Given the description of an element on the screen output the (x, y) to click on. 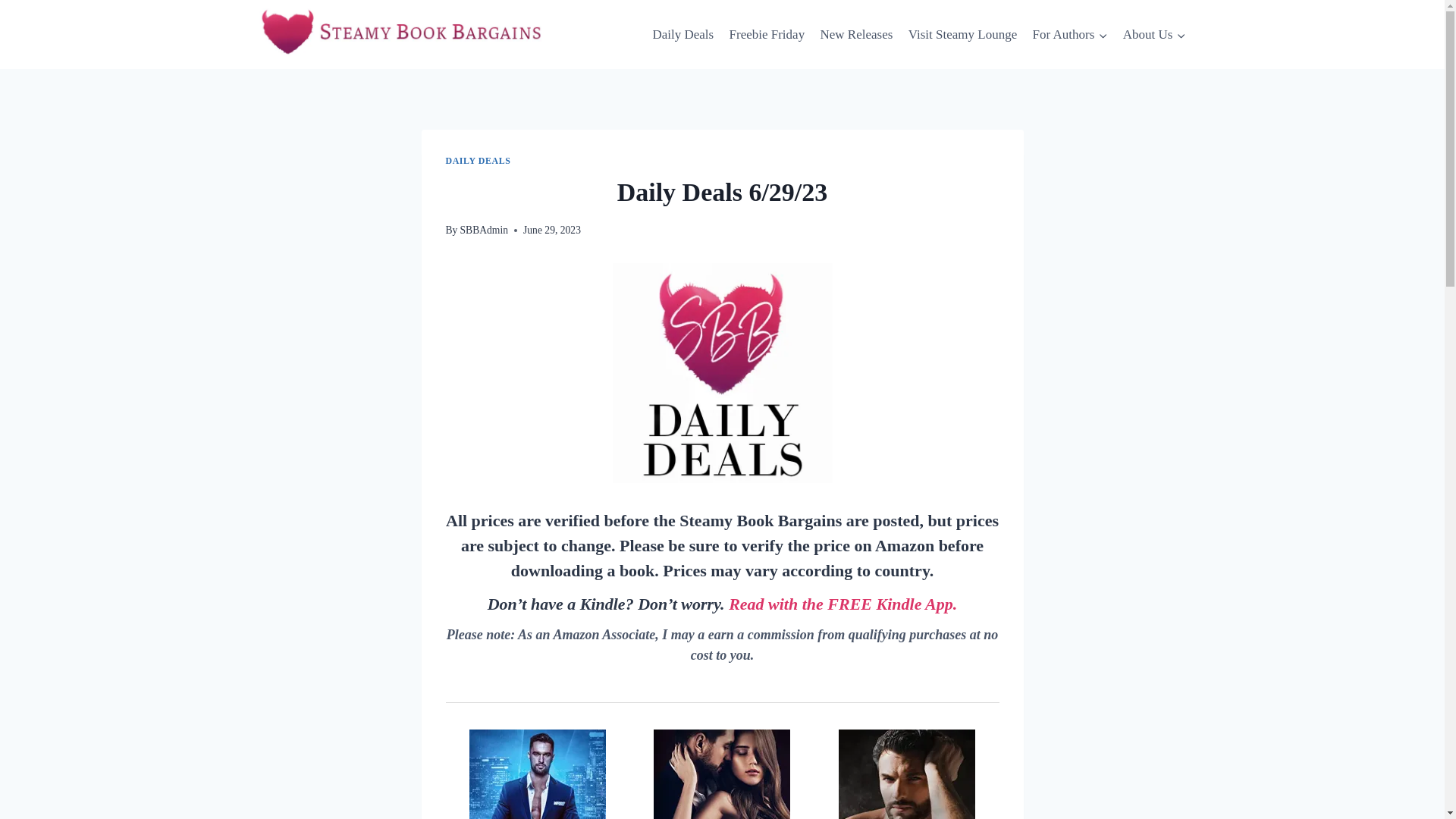
Daily Deals (682, 34)
99 Pennies! (537, 774)
New Releases (855, 34)
DAILY DEALS (478, 160)
About Us (1153, 34)
Read with the FREE Kindle App. (842, 603)
Visit Steamy Lounge (963, 34)
Freebie Friday (766, 34)
SBBAdmin (484, 229)
For Authors (1070, 34)
FREE! (722, 774)
